Given the description of an element on the screen output the (x, y) to click on. 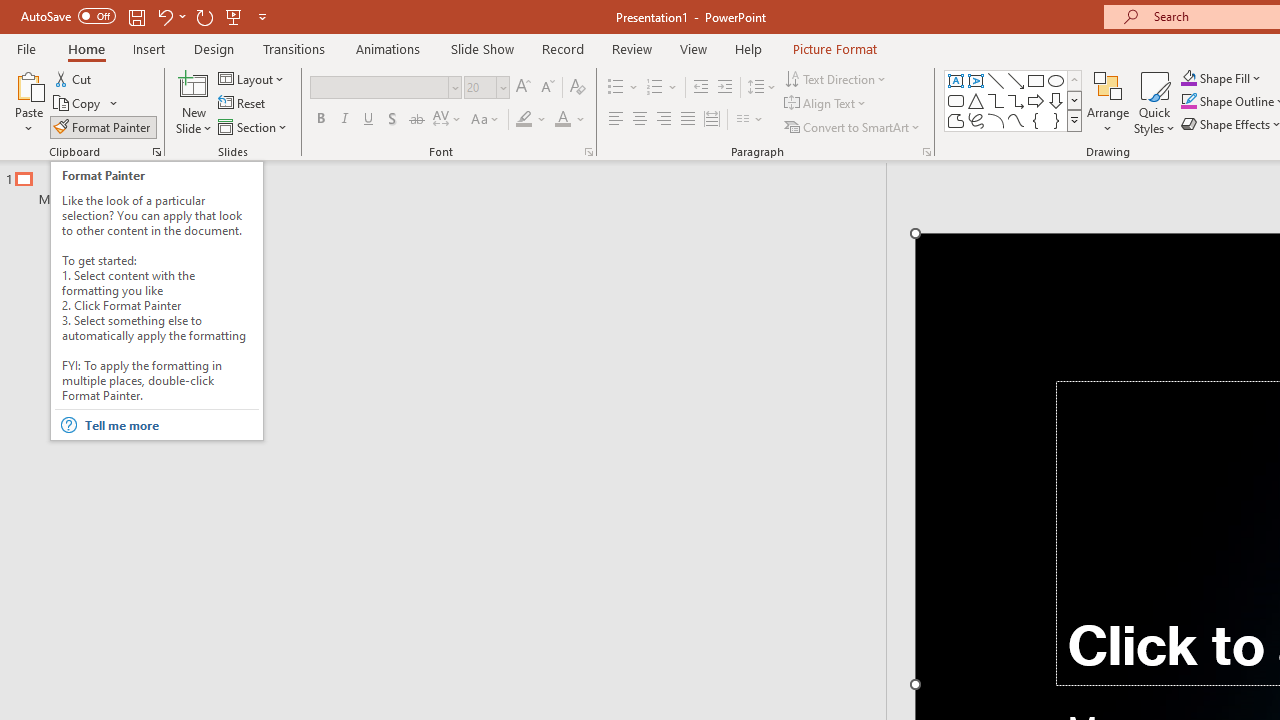
Section (254, 126)
Tell me more (170, 425)
Font... (588, 151)
Align Left (616, 119)
Line Spacing (762, 87)
Right Brace (1055, 120)
